Given the description of an element on the screen output the (x, y) to click on. 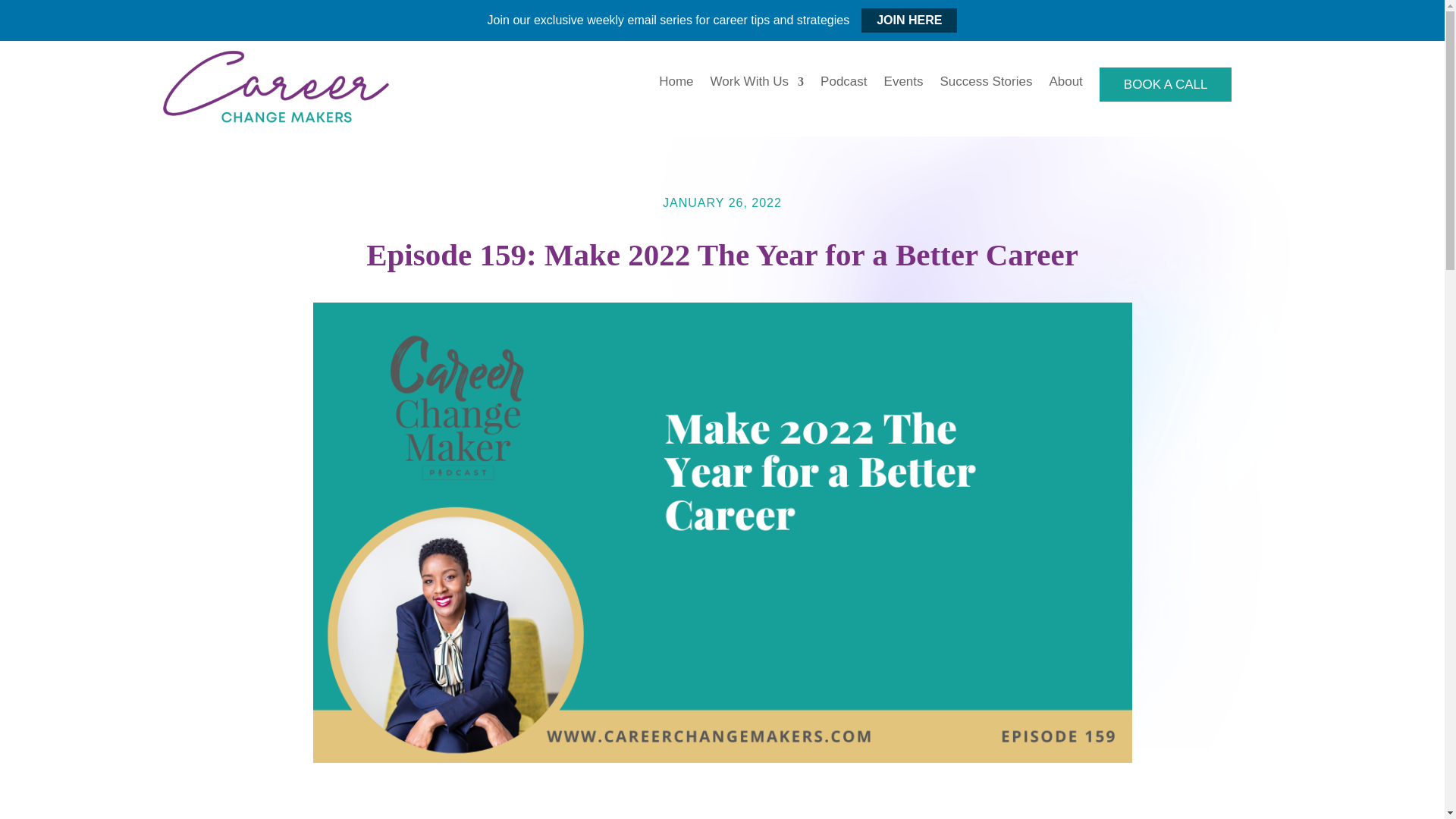
Work With Us (757, 84)
Events (903, 84)
Podcast (843, 84)
About (1064, 84)
Careers-01 (275, 88)
Success Stories (986, 84)
BOOK A CALL (1165, 84)
JOIN HERE (908, 20)
Home (676, 84)
